Given the description of an element on the screen output the (x, y) to click on. 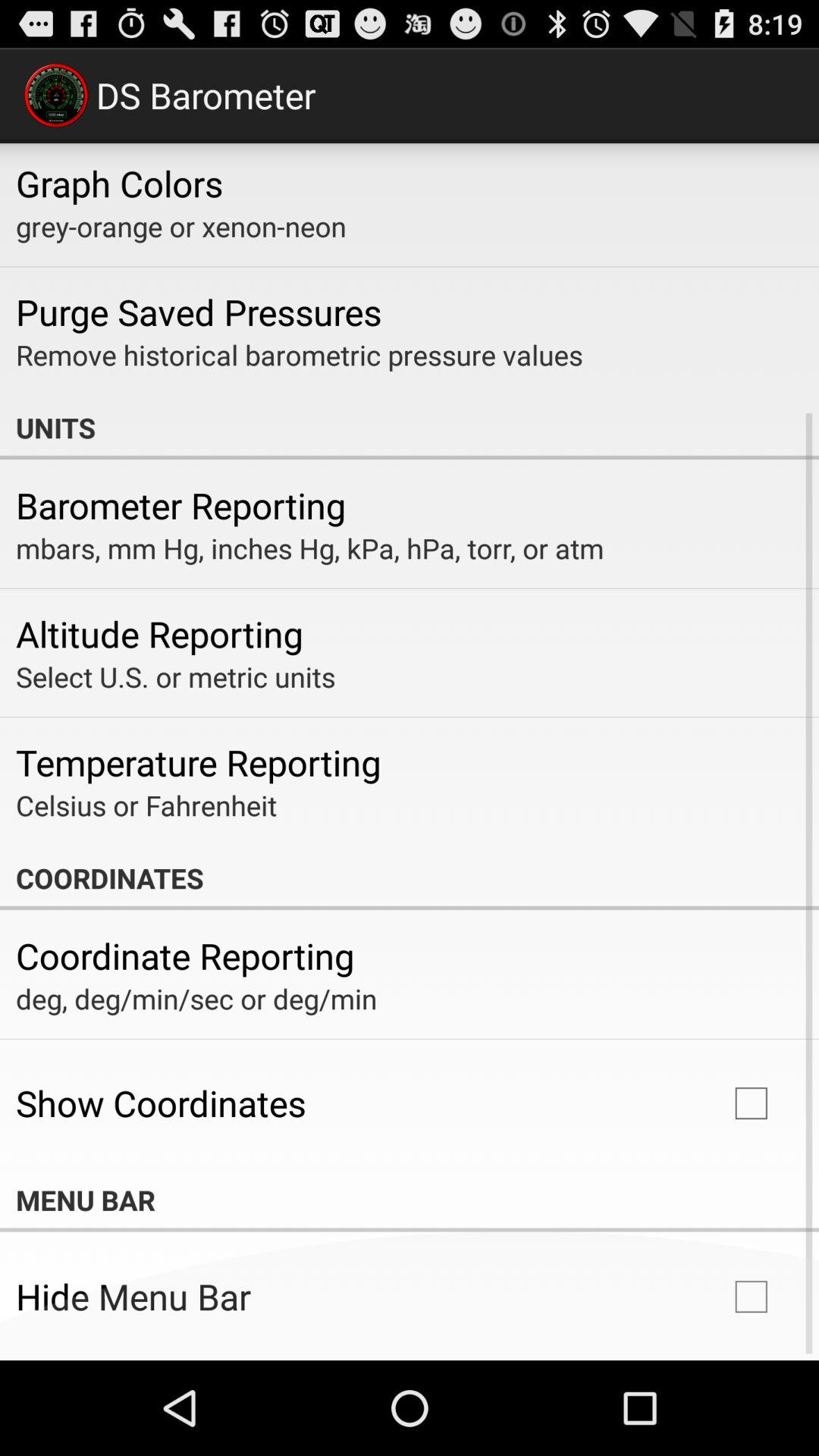
press item below coordinates app (184, 955)
